Given the description of an element on the screen output the (x, y) to click on. 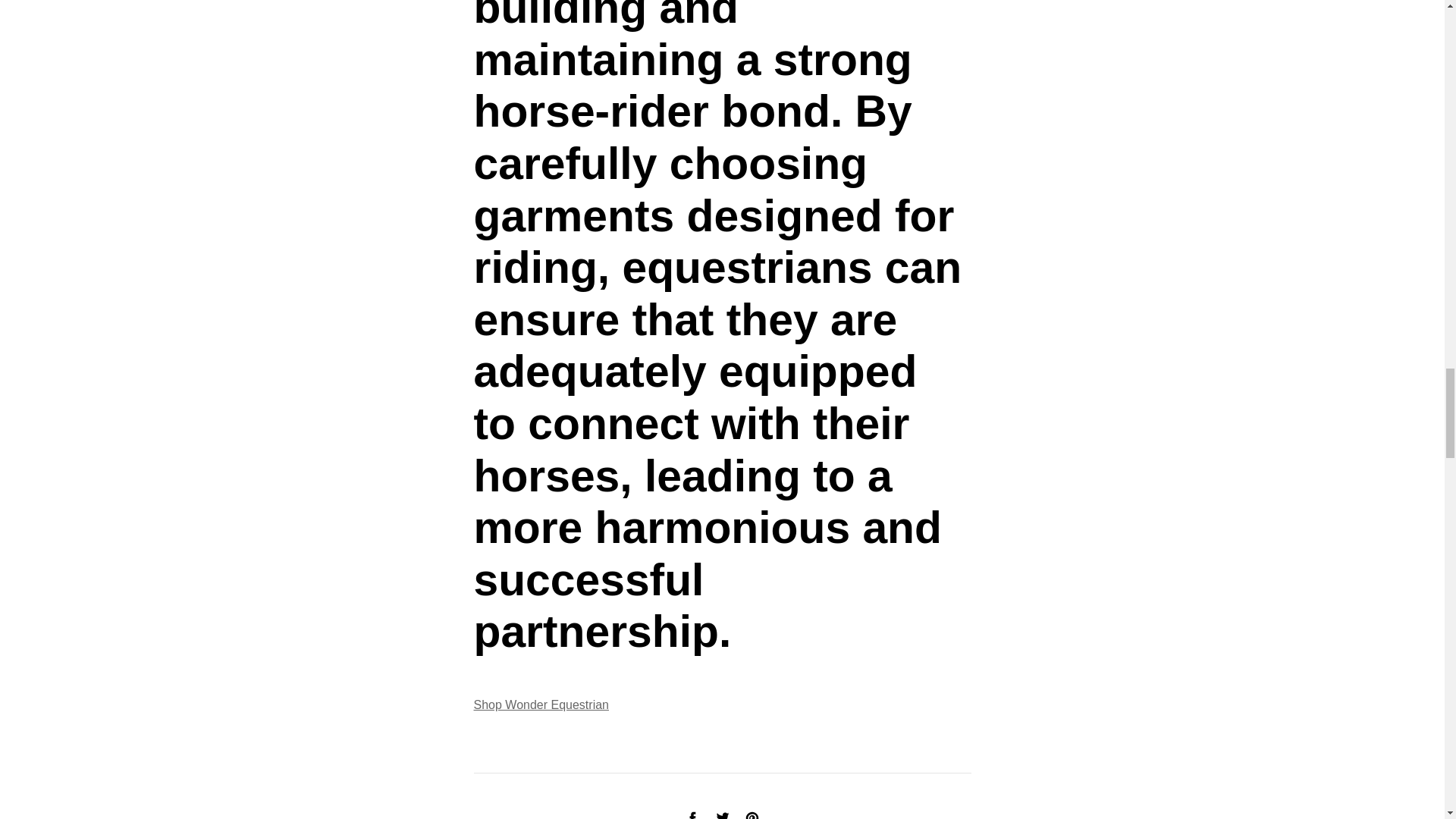
Share (691, 813)
Shop Wonder Equestrian (540, 704)
Pin it (751, 813)
Tweet (722, 813)
